Given the description of an element on the screen output the (x, y) to click on. 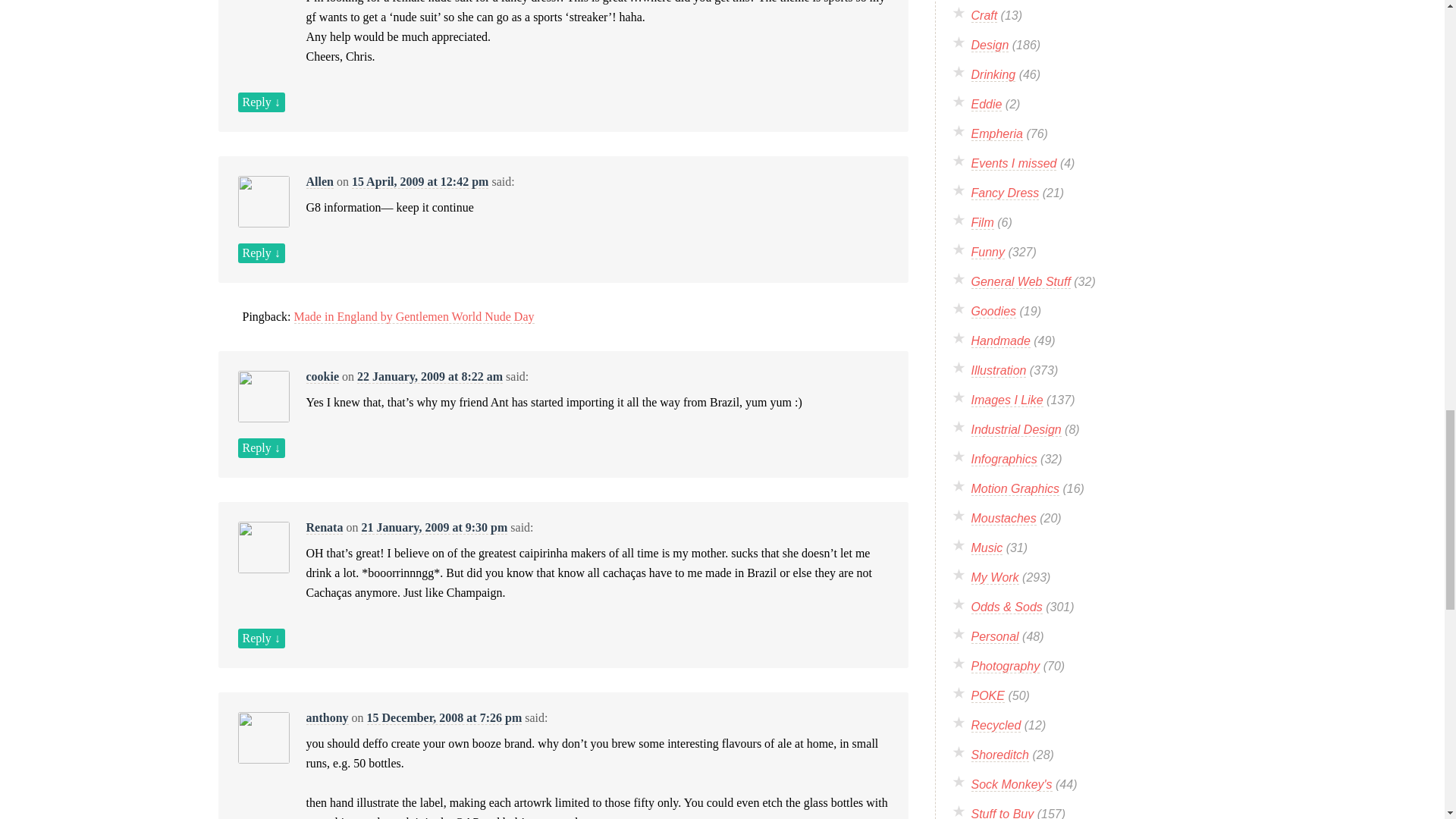
15 December, 2008 at 7:26 pm (444, 717)
Made in England by Gentlemen World Nude Day (414, 316)
anthony (327, 717)
Allen (319, 182)
21 January, 2009 at 9:30 pm (433, 527)
15 April, 2009 at 12:42 pm (419, 182)
22 January, 2009 at 8:22 am (429, 377)
Renata (324, 527)
cookie (322, 377)
